Given the description of an element on the screen output the (x, y) to click on. 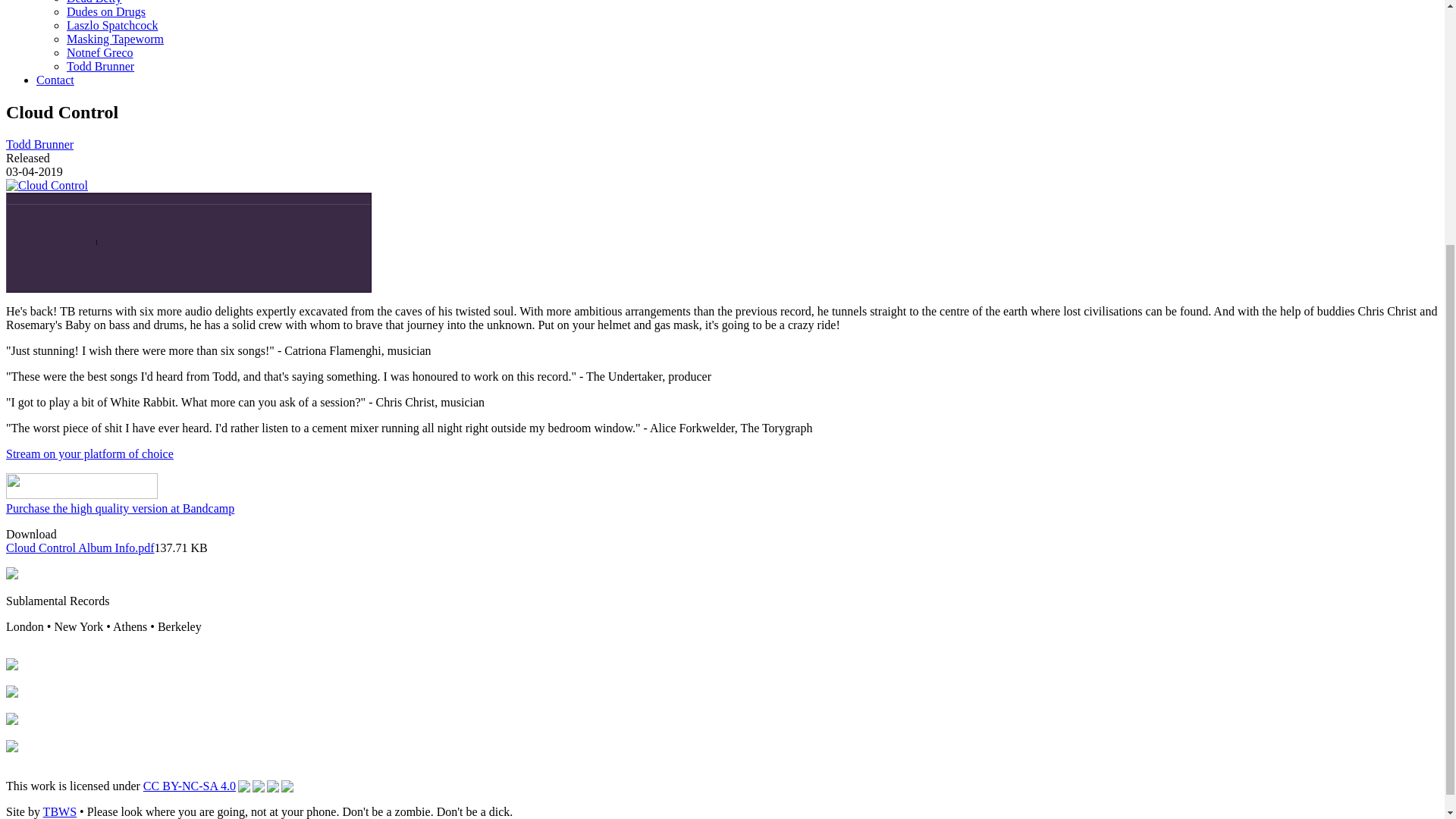
Follow us on facebook (11, 693)
Todd Brunner (99, 65)
Dead Betty (93, 2)
Cloud Control Album Info.pdf (79, 547)
Contact (55, 79)
Stream on your platform of choice (89, 453)
Follow us on Mastodon (11, 720)
Todd Brunner (39, 144)
Dudes on Drugs (105, 11)
mute (27, 231)
Laszlo Spatchcock (111, 24)
Notnef Greco (99, 51)
Cloud Control (46, 185)
stop (242, 230)
TBWS (60, 811)
